Given the description of an element on the screen output the (x, y) to click on. 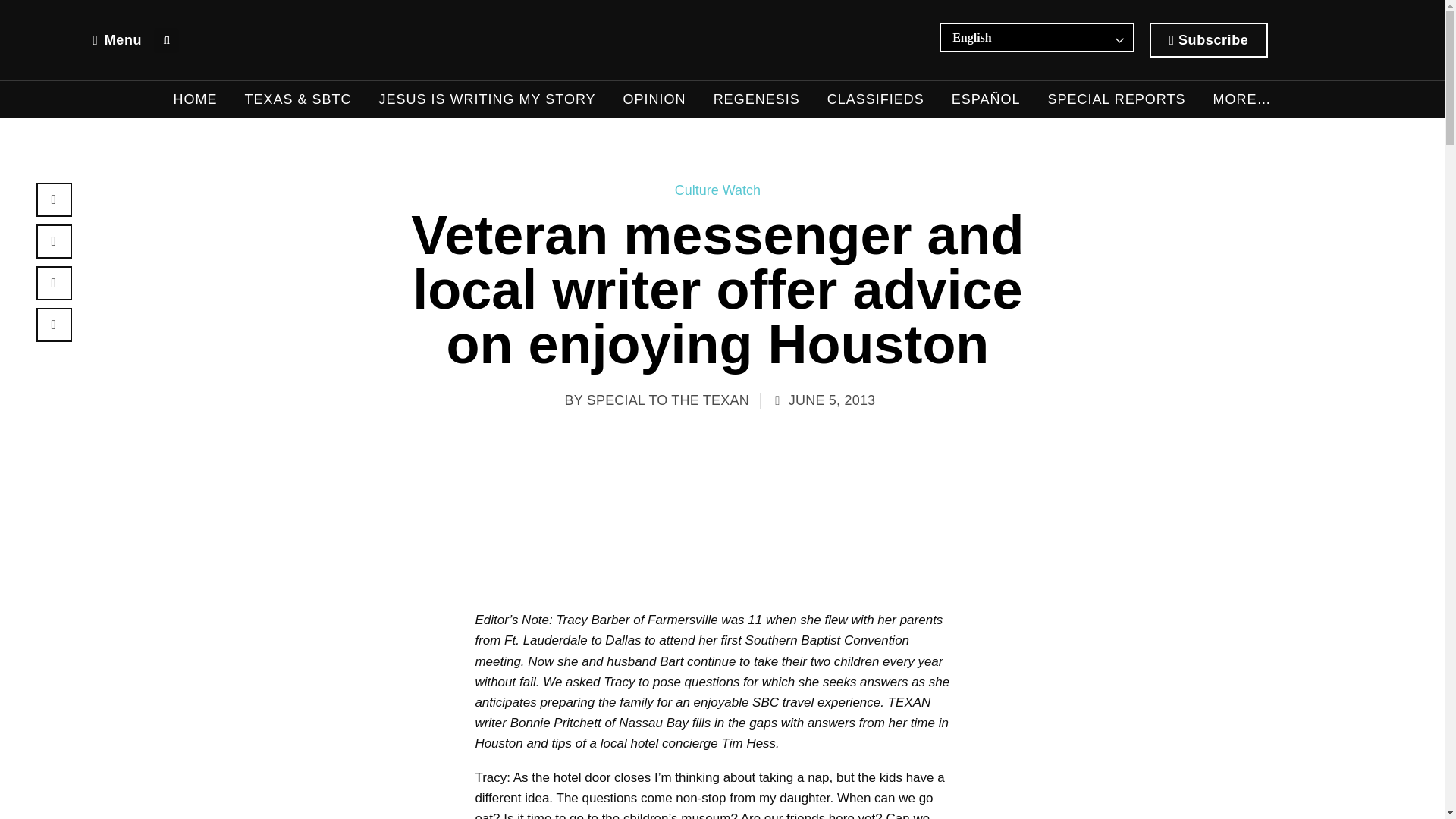
JESUS IS WRITING MY STORY (486, 99)
OPINION (654, 99)
SPECIAL REPORTS (1115, 99)
Subscribe (1209, 39)
English (1013, 37)
Menu (117, 39)
CLASSIFIEDS (875, 99)
REGENESIS (756, 99)
HOME (194, 99)
